Given the description of an element on the screen output the (x, y) to click on. 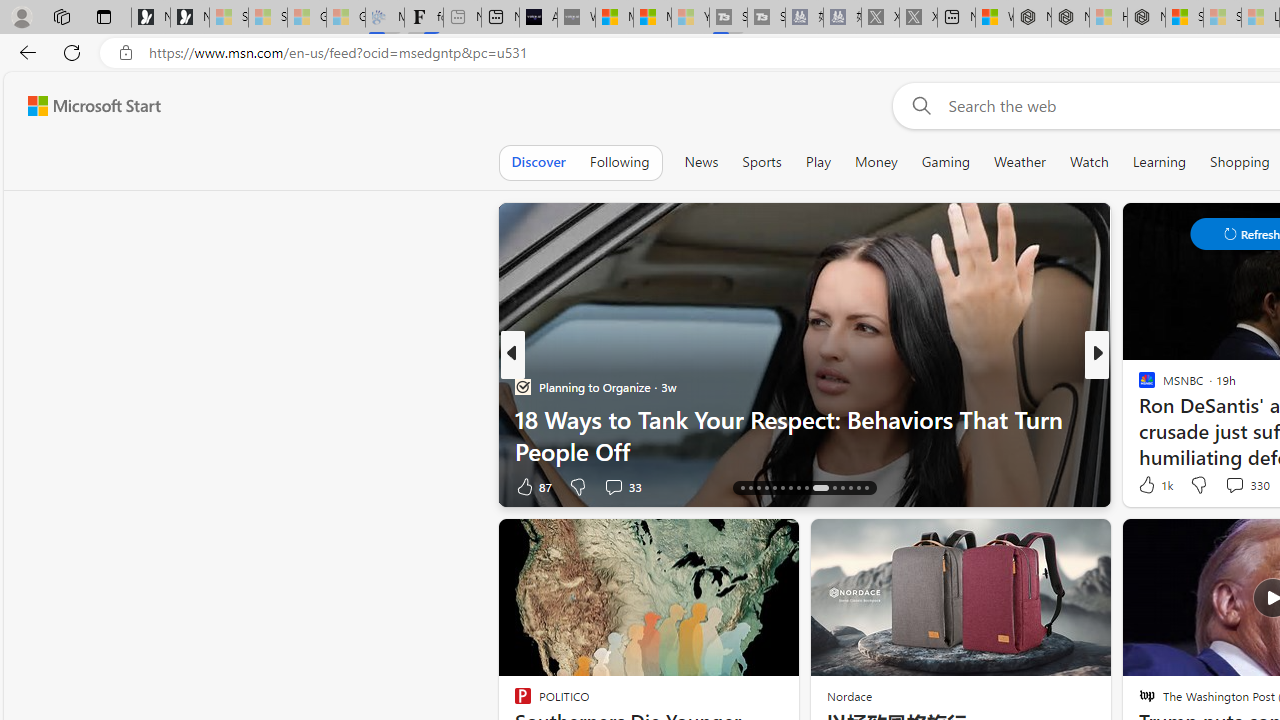
AutomationID: tab-27 (842, 487)
AutomationID: tab-26 (833, 487)
181 Like (1151, 486)
AutomationID: tab-28 (850, 487)
